Given the description of an element on the screen output the (x, y) to click on. 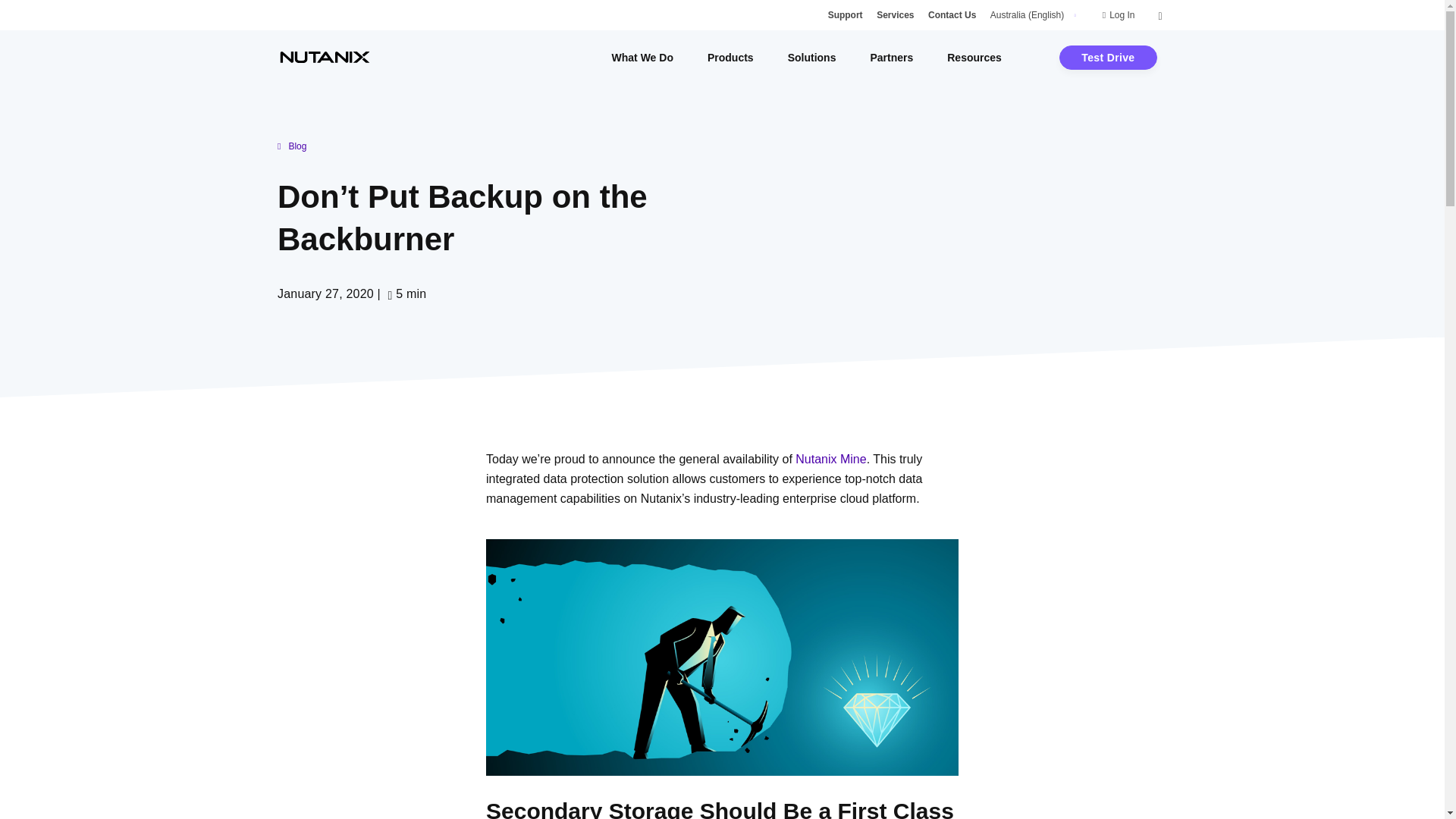
What We Do (641, 57)
Support (845, 15)
Contact Us (951, 15)
Log In (1121, 15)
Services (895, 15)
Products (730, 57)
